Given the description of an element on the screen output the (x, y) to click on. 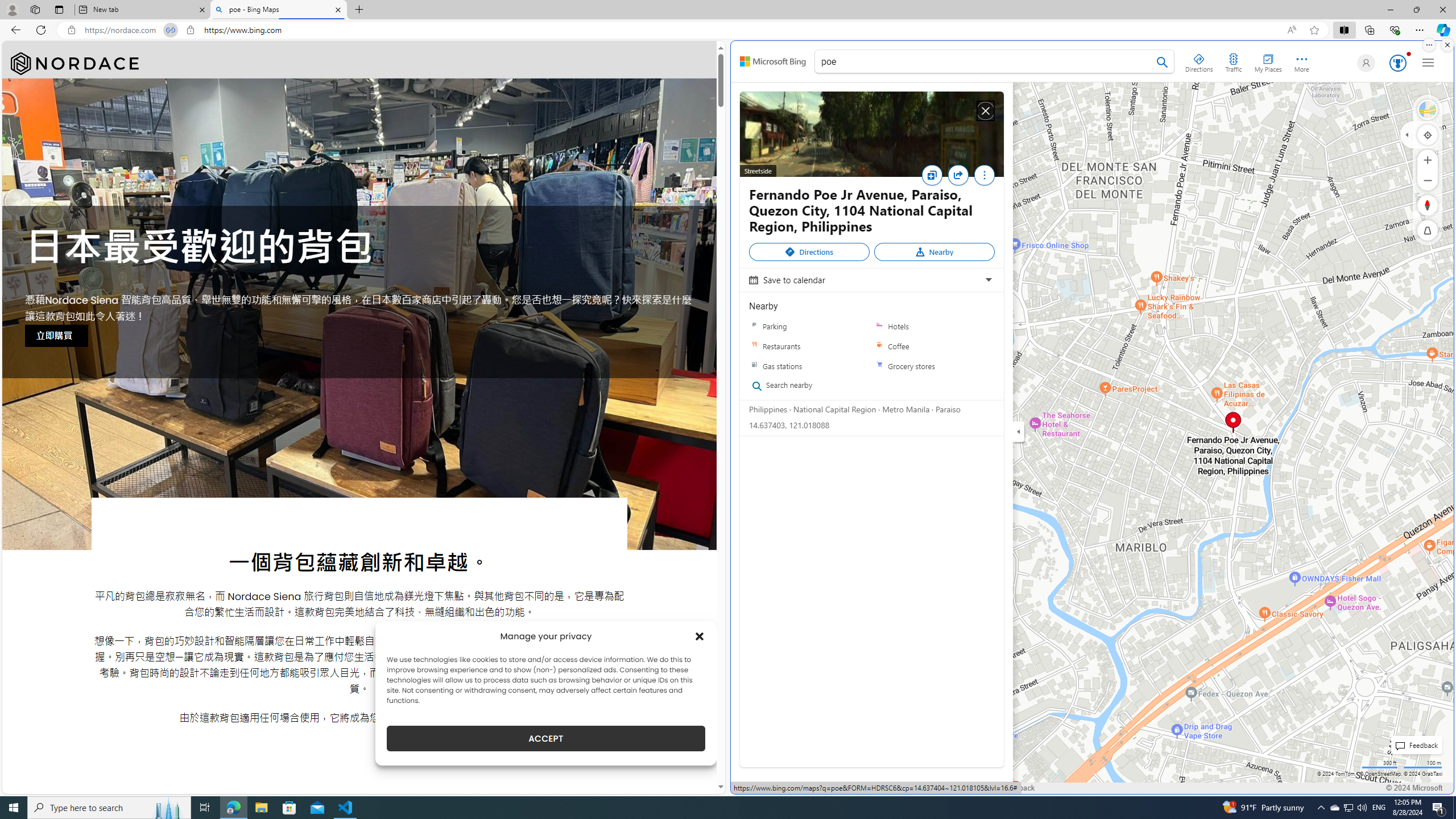
Zoom In (1427, 159)
Grocery stores (879, 365)
Hotels (933, 326)
About our ads (930, 787)
Locate me (1427, 134)
Legal (832, 787)
Grocery stores (933, 365)
Privacy and Cookies (772, 787)
Gas stations (808, 365)
poe (994, 62)
Feedback (1017, 787)
View site information (190, 29)
Directions (808, 252)
Traffic (1232, 60)
ACCEPT (545, 738)
